Given the description of an element on the screen output the (x, y) to click on. 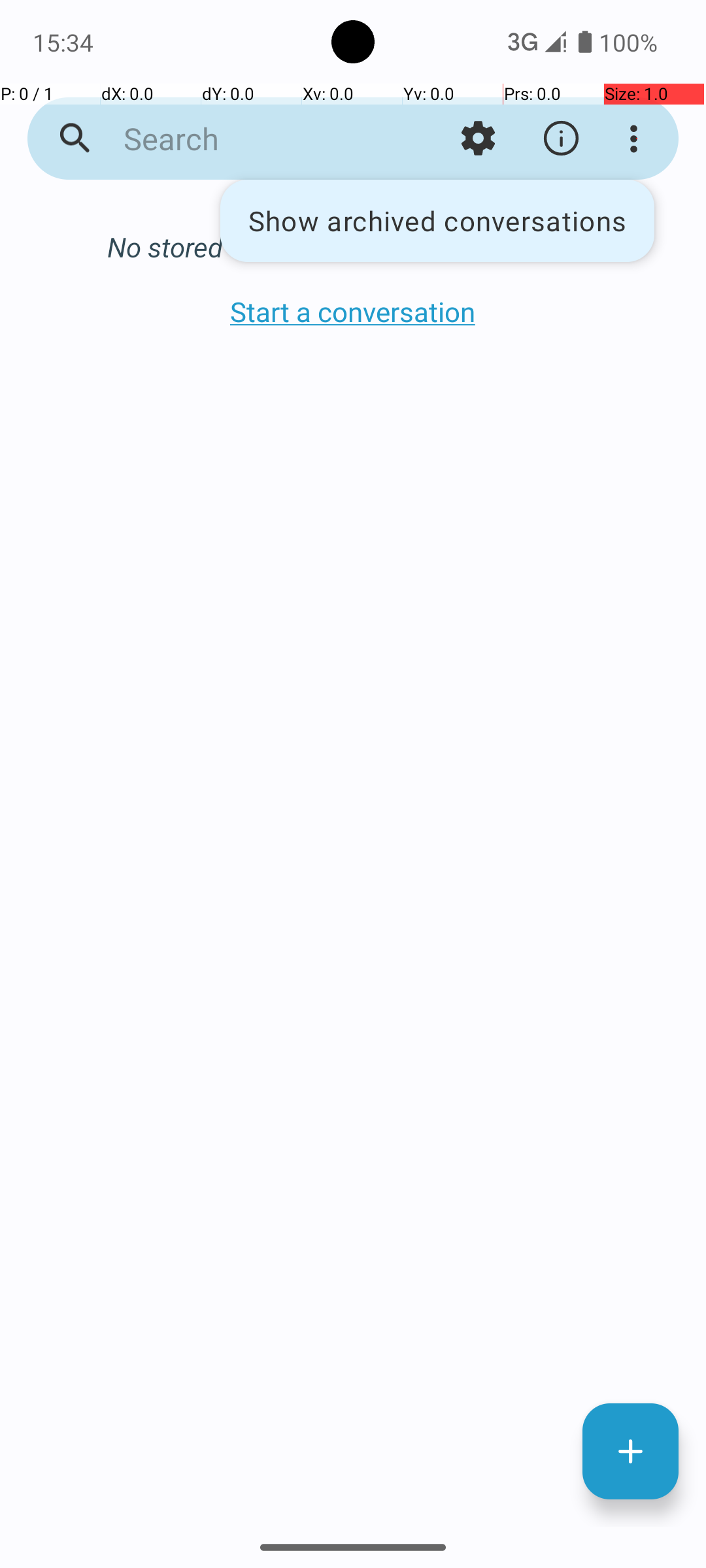
Show archived conversations Element type: android.widget.TextView (436, 220)
